Given the description of an element on the screen output the (x, y) to click on. 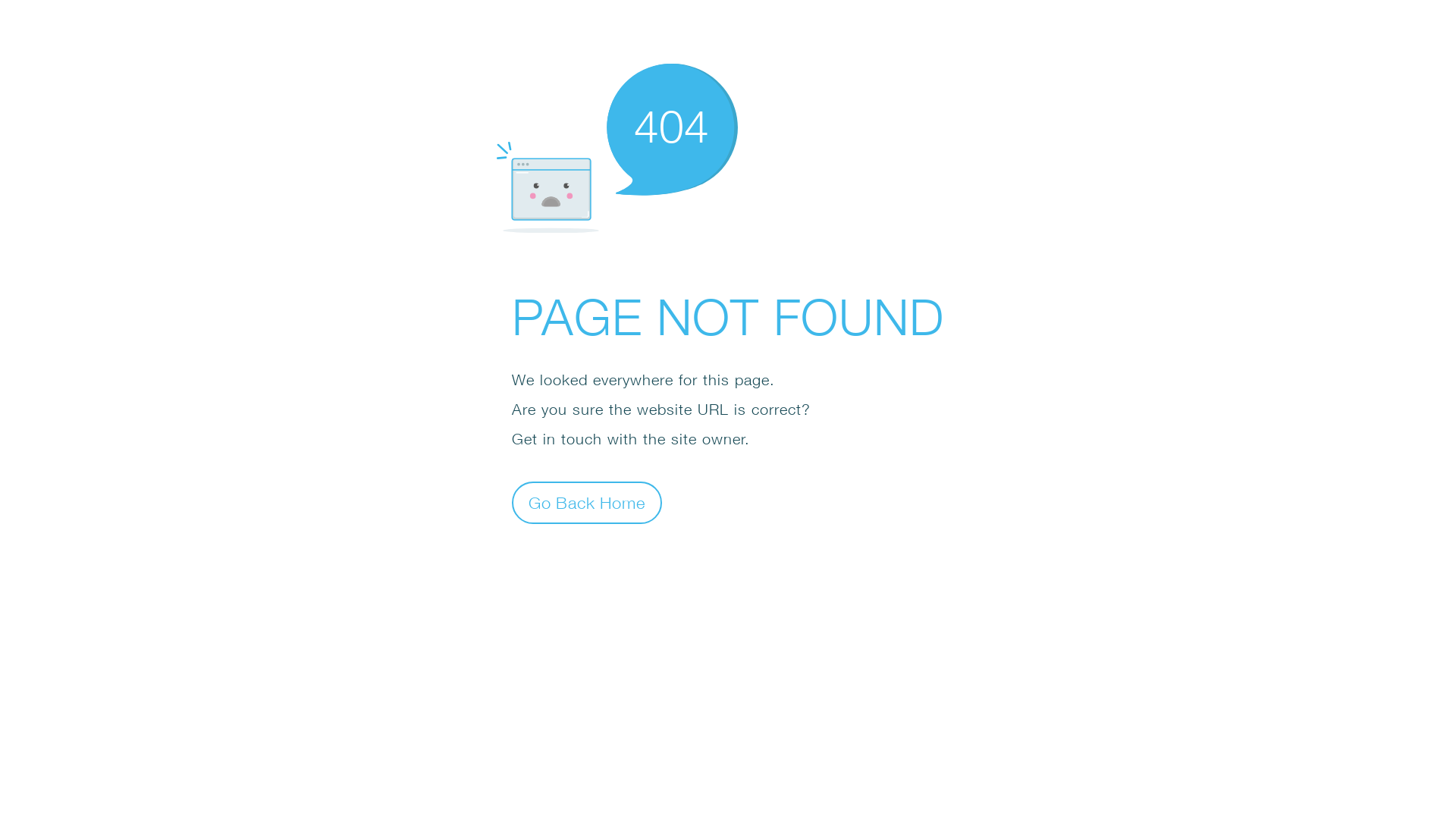
Go Back Home Element type: text (586, 502)
